Given the description of an element on the screen output the (x, y) to click on. 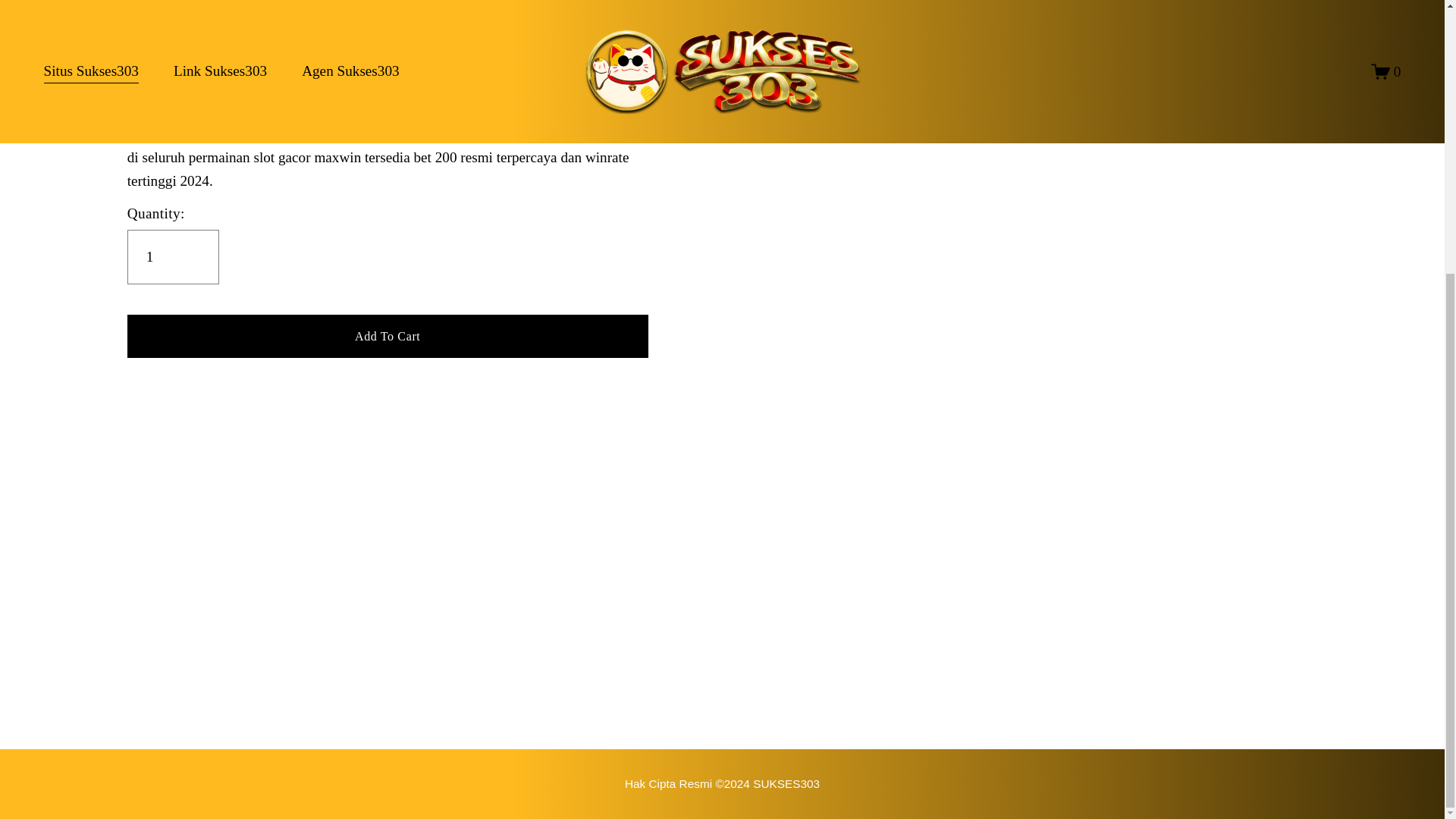
Daftar Slot Online (721, 783)
1 (173, 257)
Add To Cart (387, 335)
